Given the description of an element on the screen output the (x, y) to click on. 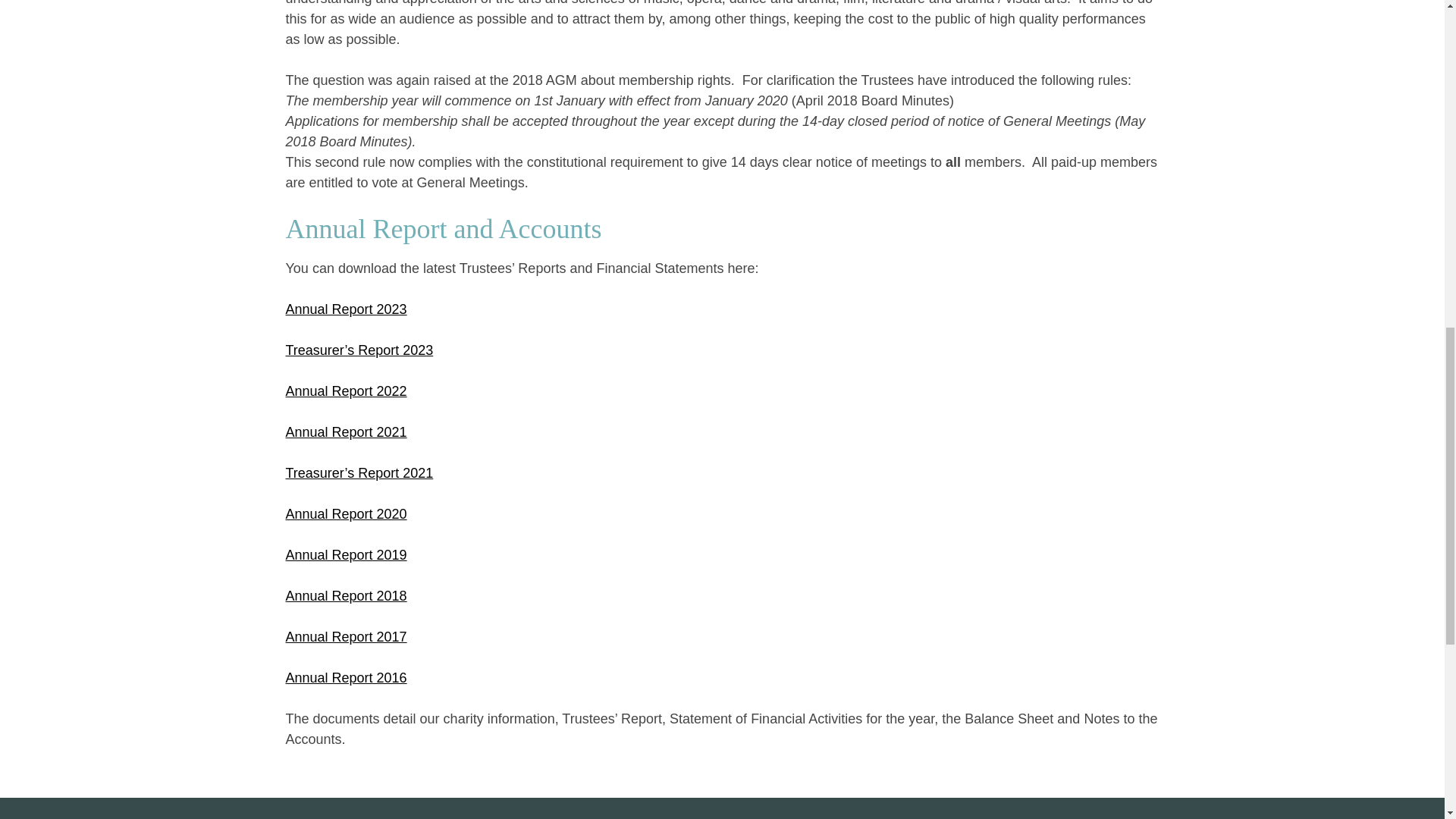
Annual Report 2016 (345, 677)
Annual Report 2023 (345, 309)
Annual Report 2020 (345, 513)
Annual Report 2022 (345, 391)
Annual Report 2019 (345, 554)
Annual Report 2018 (345, 595)
Annual Report 2021 (345, 432)
Annual Report 2017 (345, 636)
